Given the description of an element on the screen output the (x, y) to click on. 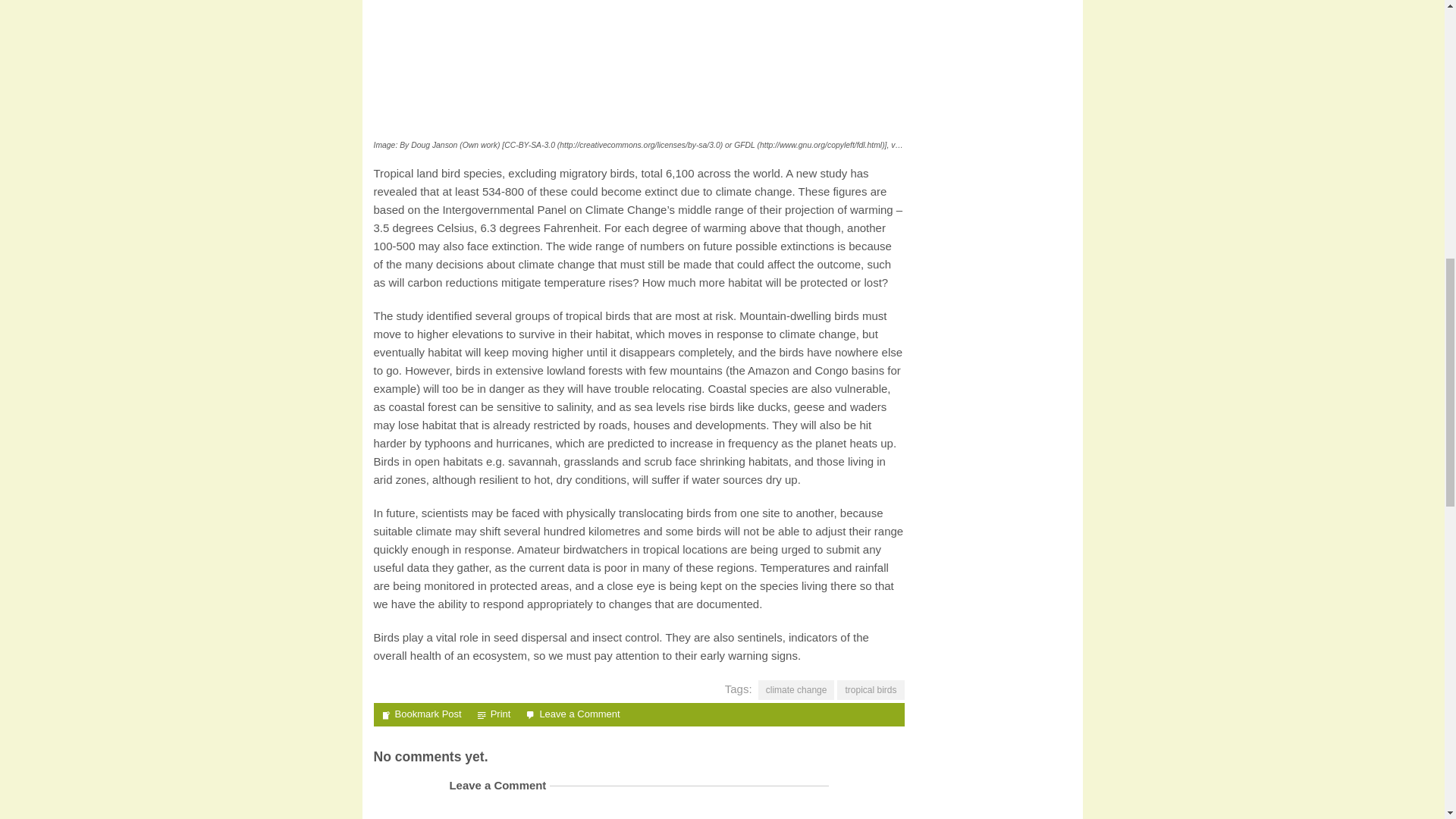
Print (494, 713)
Intergovernmental Panel on Climate Change (554, 209)
Print Post (494, 713)
study (833, 173)
climate change (796, 690)
Bookmark Post (420, 713)
tropical birds (870, 690)
Leave a Comment (579, 713)
Leave a Comment (579, 713)
Bookmark Post (420, 713)
